Given the description of an element on the screen output the (x, y) to click on. 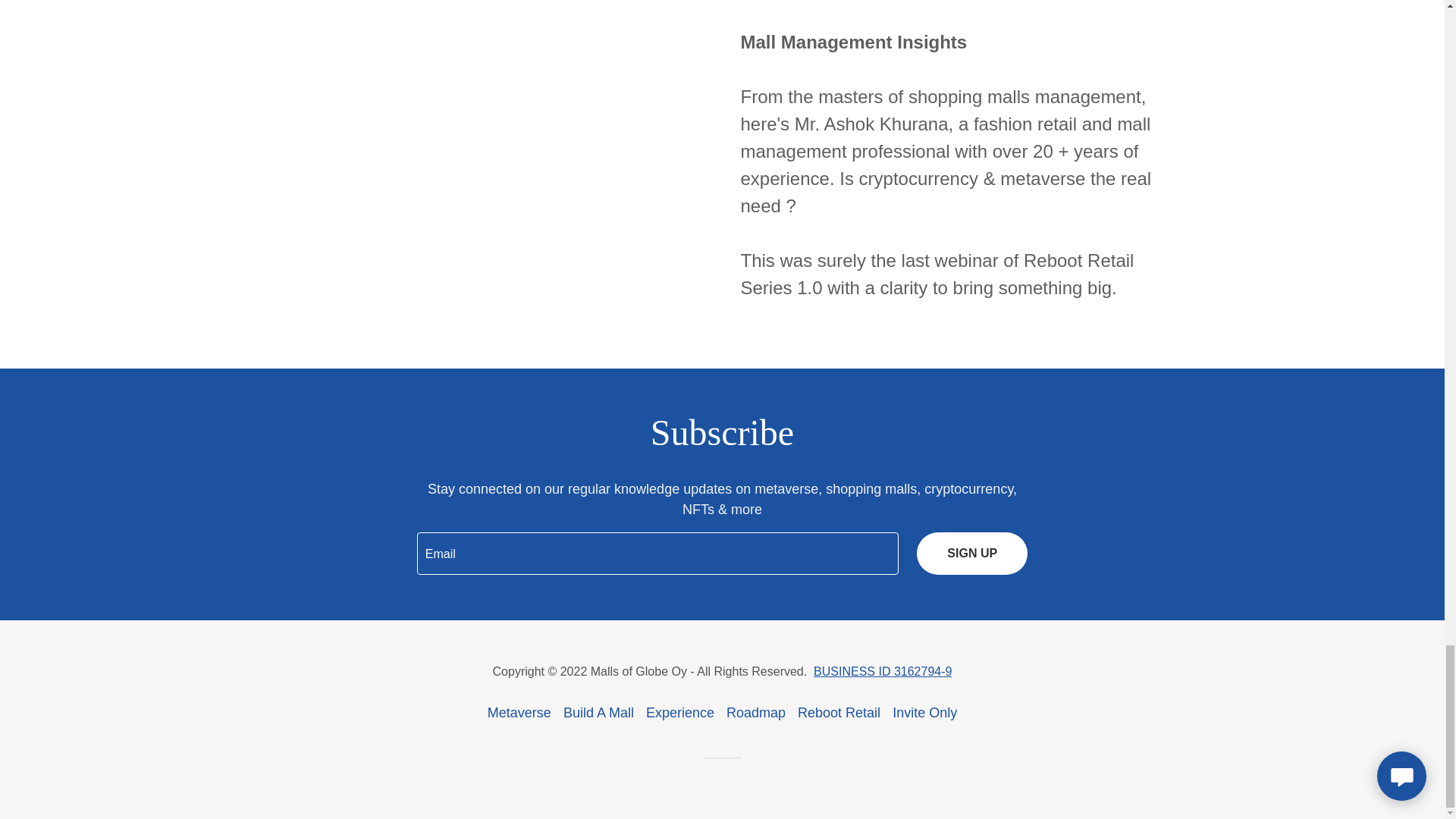
Build A Mall (598, 713)
Reboot Retail (839, 713)
Metaverse (519, 713)
BUSINESS ID 3162794-9 (882, 671)
Invite Only (924, 713)
Experience (680, 713)
SIGN UP (972, 553)
Roadmap (756, 713)
